Given the description of an element on the screen output the (x, y) to click on. 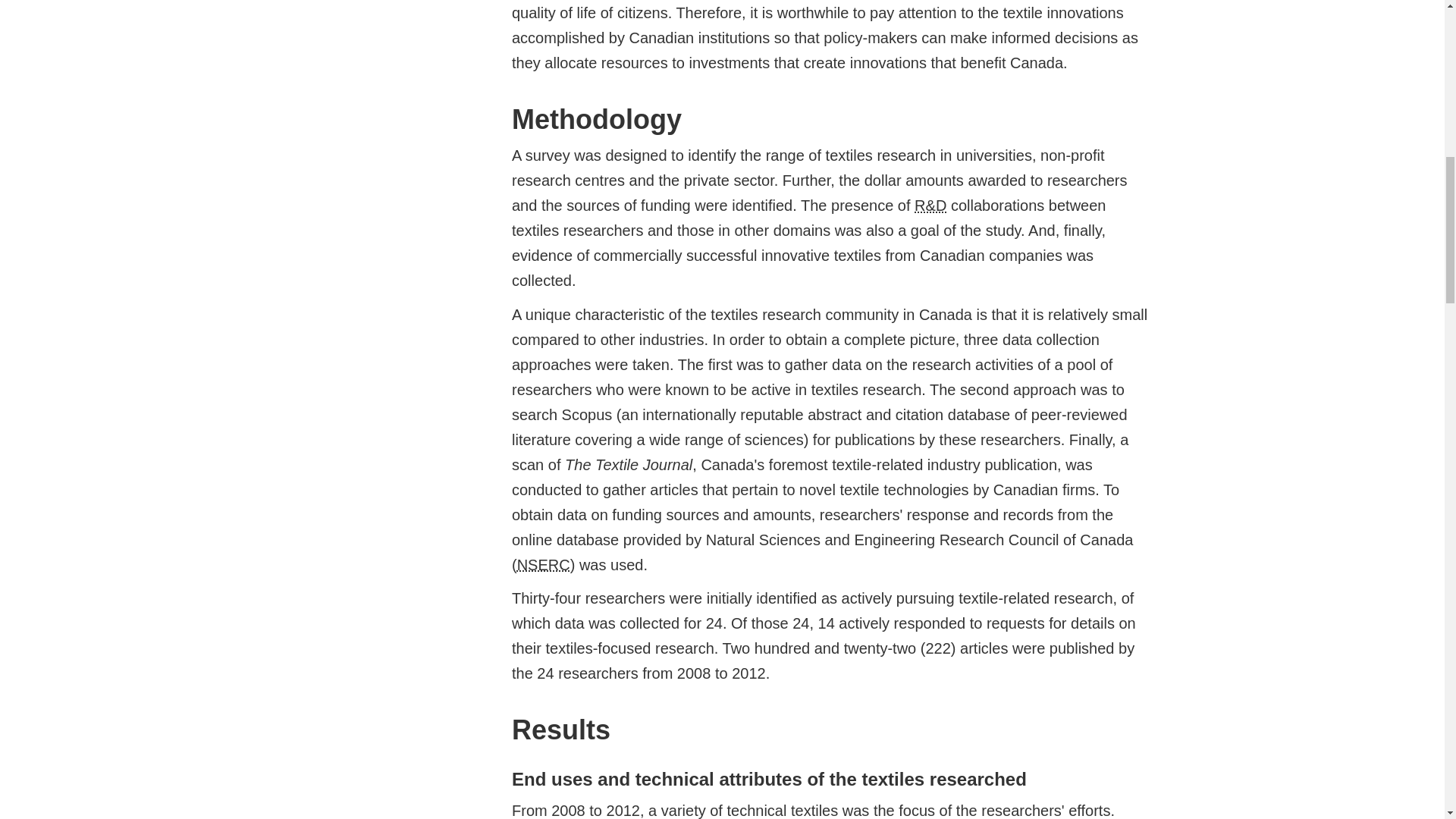
Natural Sciences and Engineering Research Council of  Canada (543, 564)
research and development (930, 205)
